Given the description of an element on the screen output the (x, y) to click on. 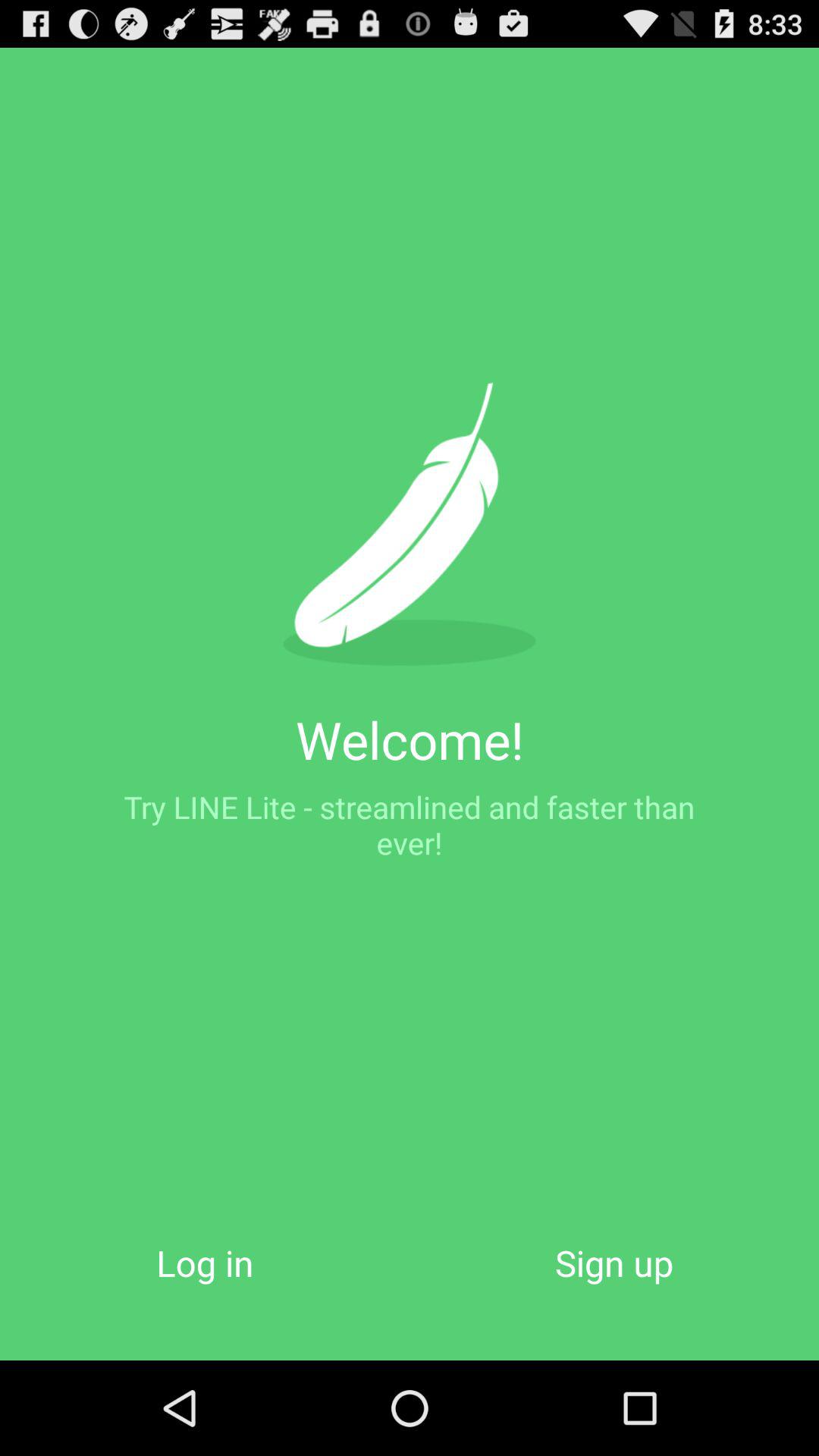
jump until sign up item (614, 1262)
